Given the description of an element on the screen output the (x, y) to click on. 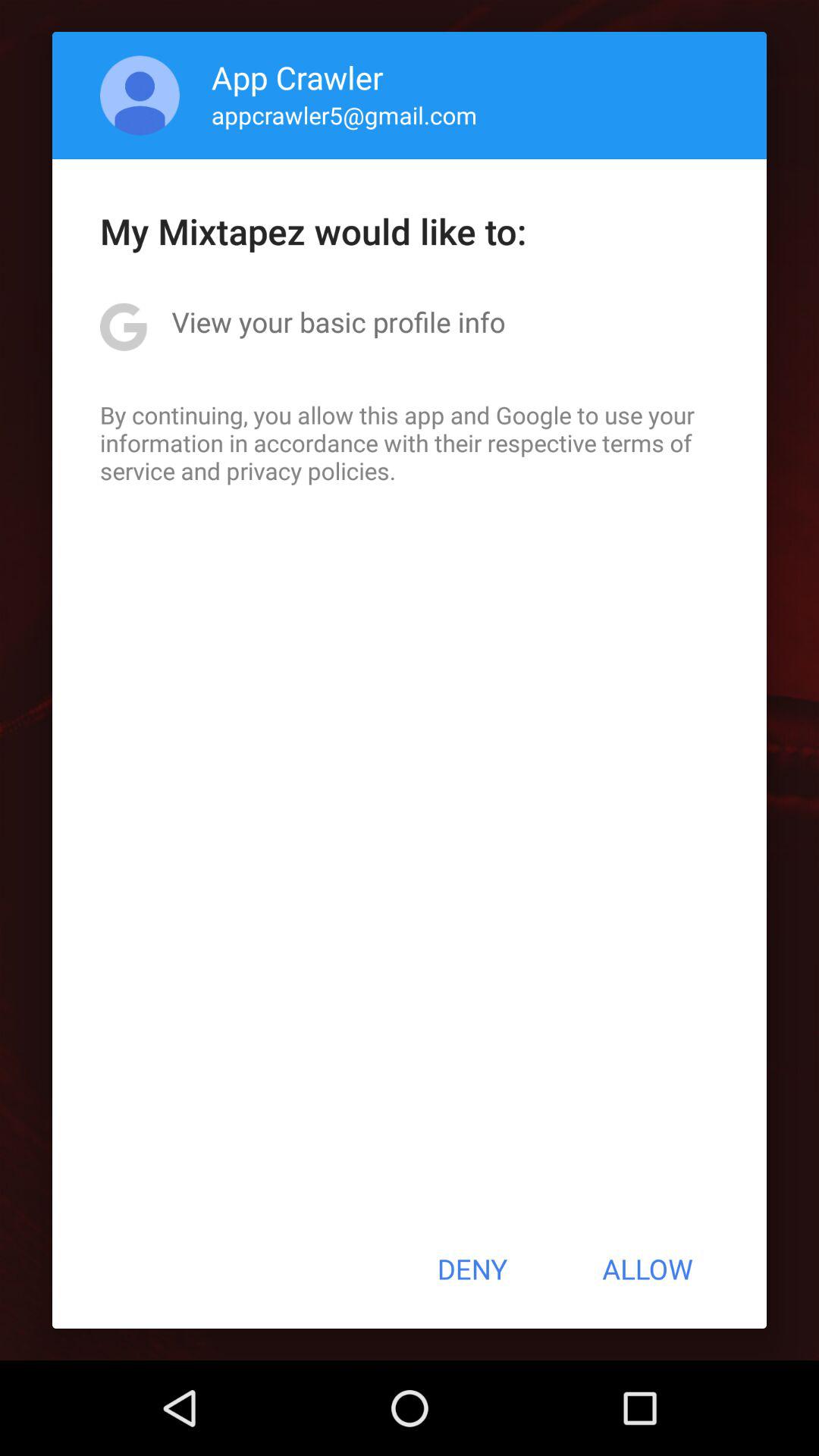
launch icon to the left of the allow icon (471, 1268)
